Given the description of an element on the screen output the (x, y) to click on. 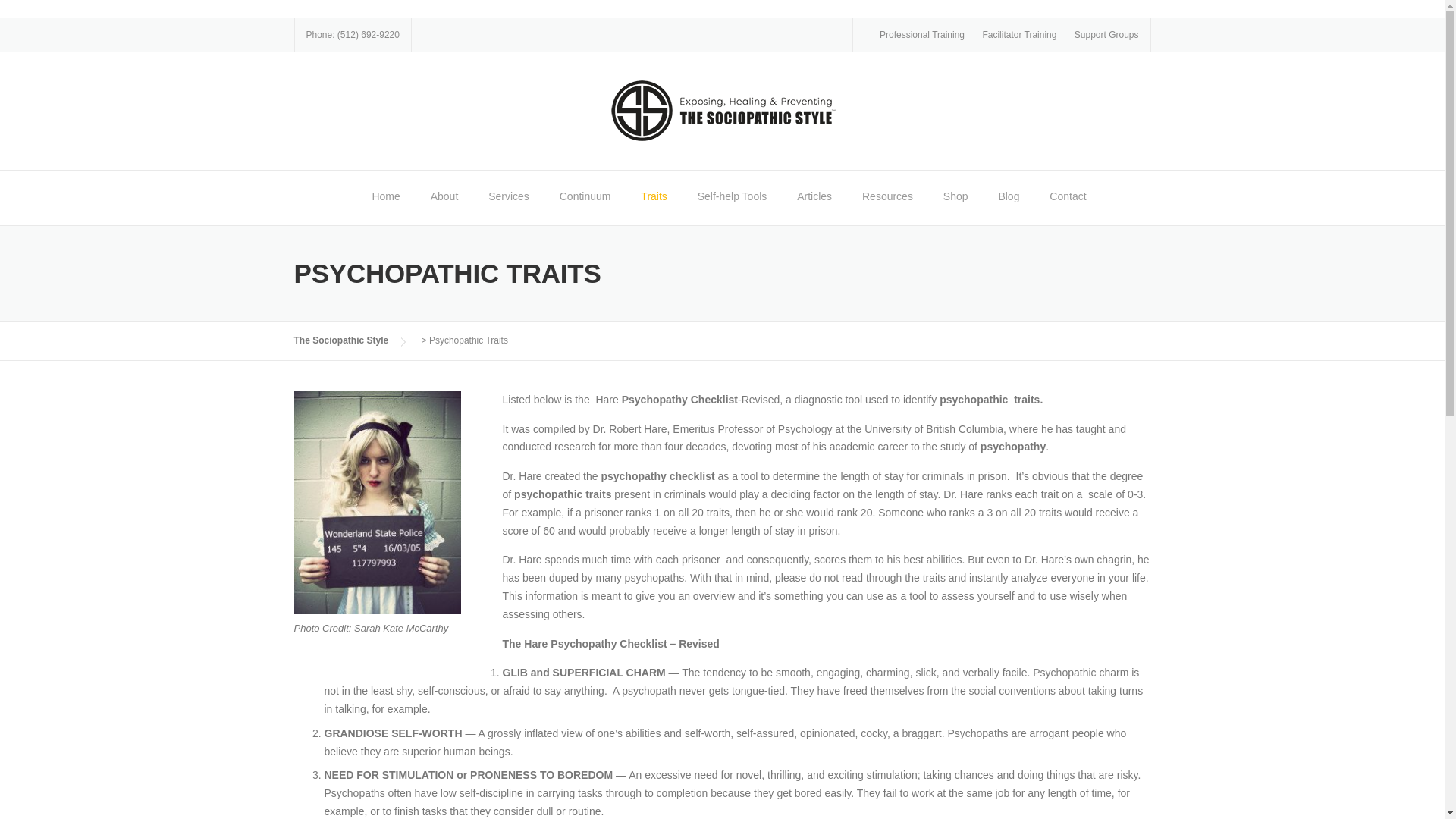
The Sociopathic Style (721, 110)
Continuum (585, 197)
Support Groups (1106, 34)
Go to The Sociopathic Style. (341, 339)
Professional Training (921, 34)
Services (508, 197)
Self-help Tools (732, 197)
Home (385, 197)
Traits (653, 197)
About (443, 197)
Articles (814, 197)
Facilitator Training (1019, 34)
